Given the description of an element on the screen output the (x, y) to click on. 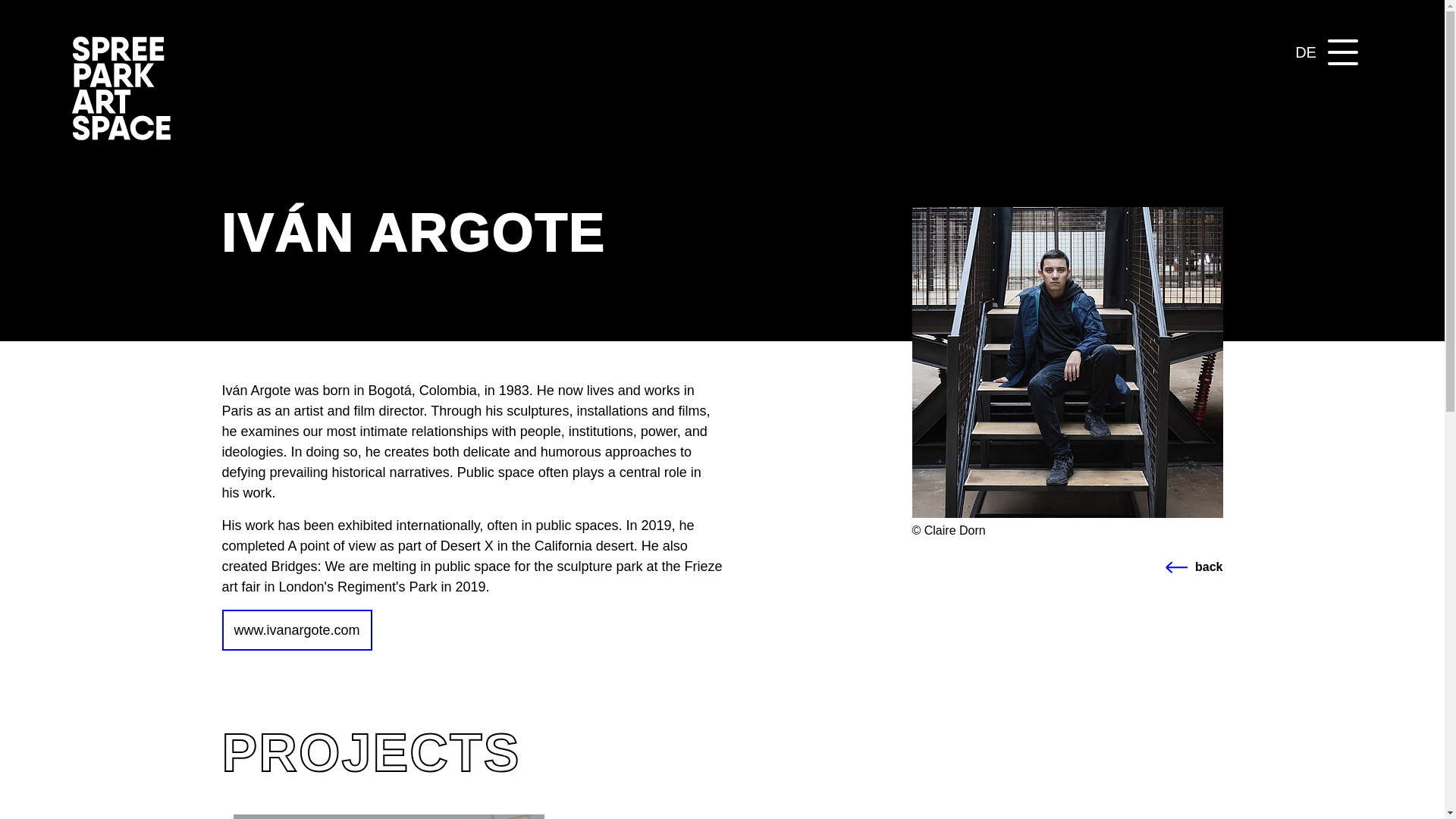
Deutsch (120, 135)
Spreepark artspace (1305, 52)
www.ivanargote.com (120, 135)
DE (296, 629)
back (1305, 52)
Spreepark artspaceSpreepark Artspace (1067, 566)
